Given the description of an element on the screen output the (x, y) to click on. 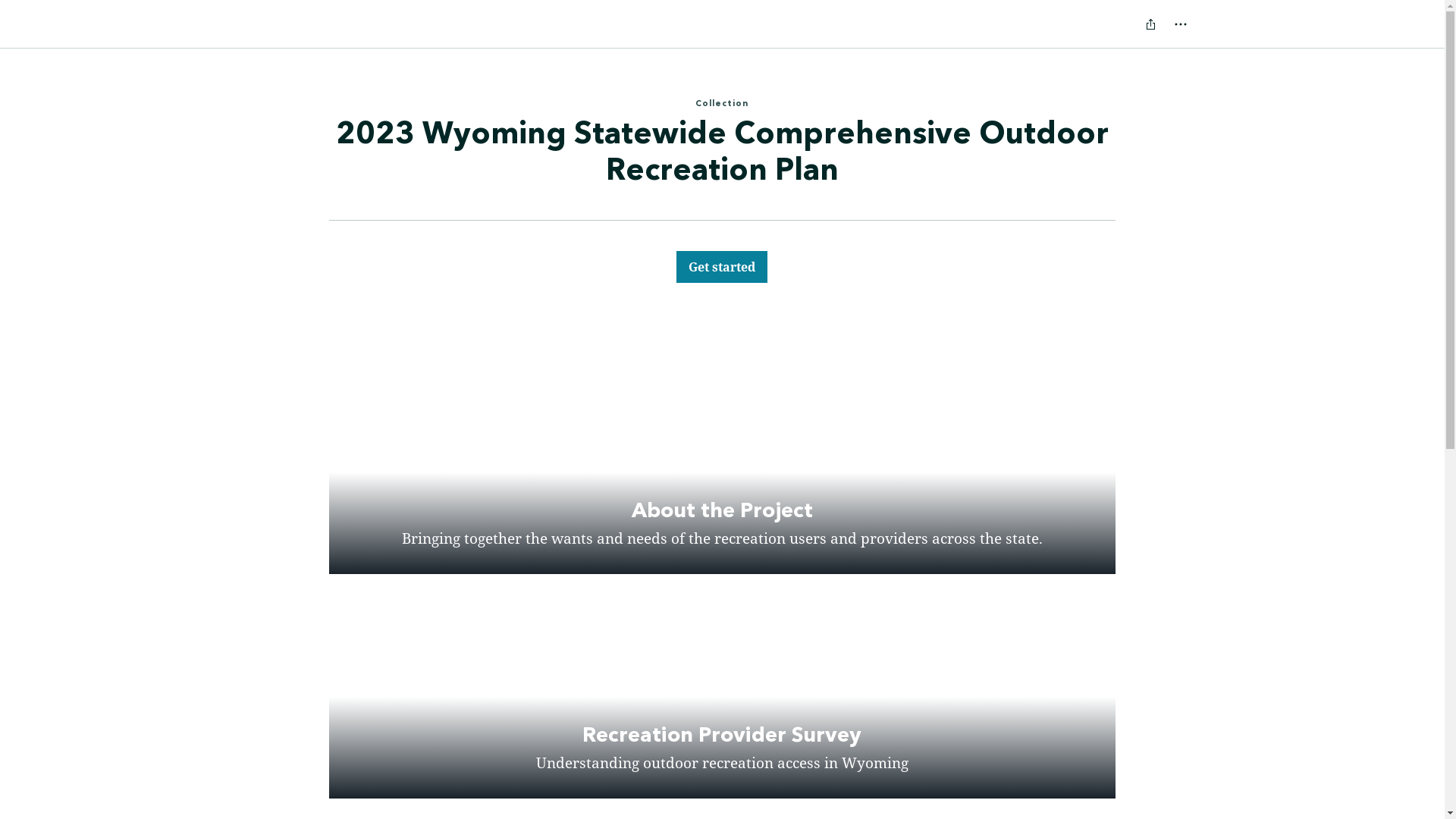
Get started Element type: text (721, 266)
Skip to content Element type: text (18, 12)
